Given the description of an element on the screen output the (x, y) to click on. 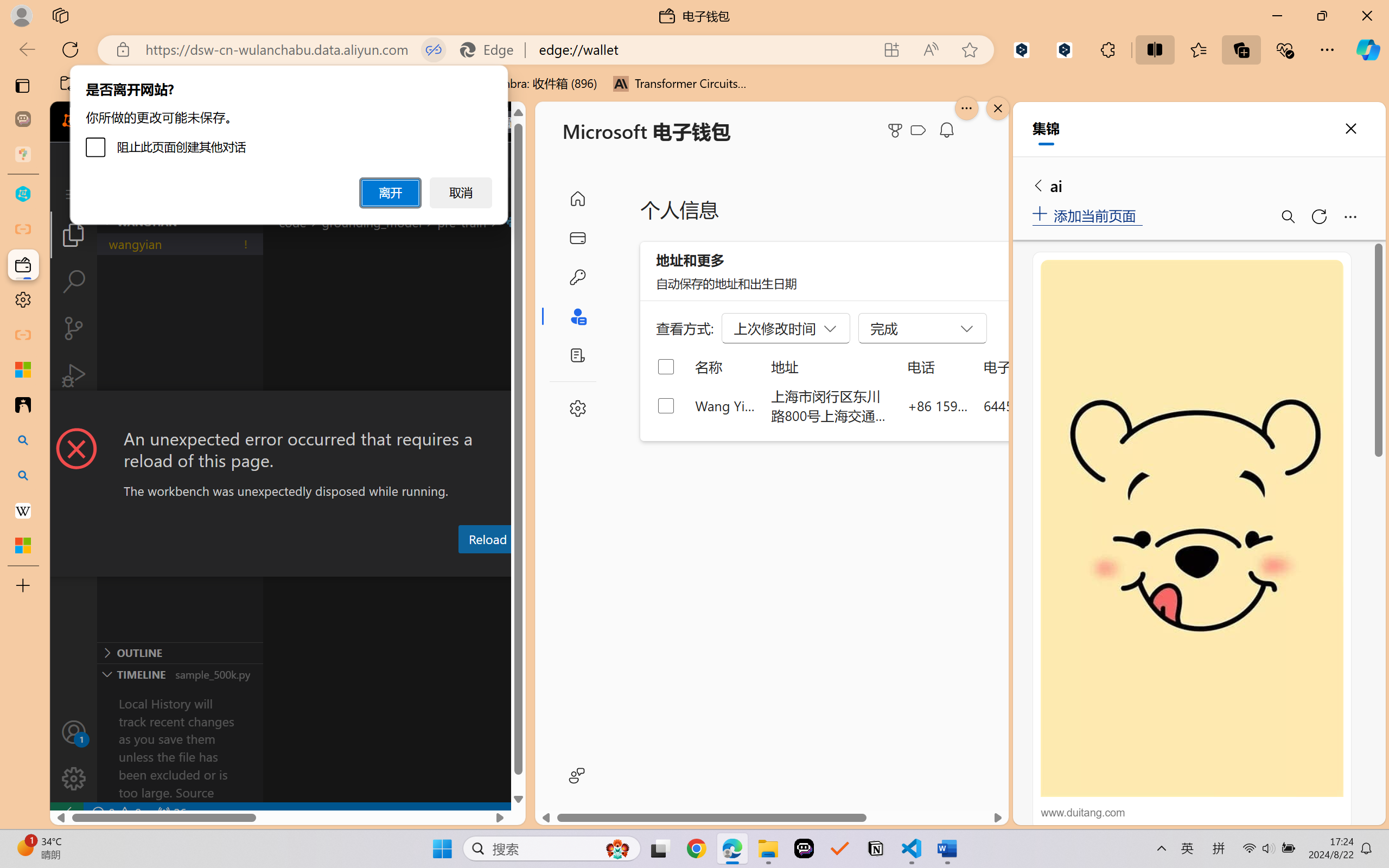
Manage (73, 778)
Output (Ctrl+Shift+U) (377, 565)
